Given the description of an element on the screen output the (x, y) to click on. 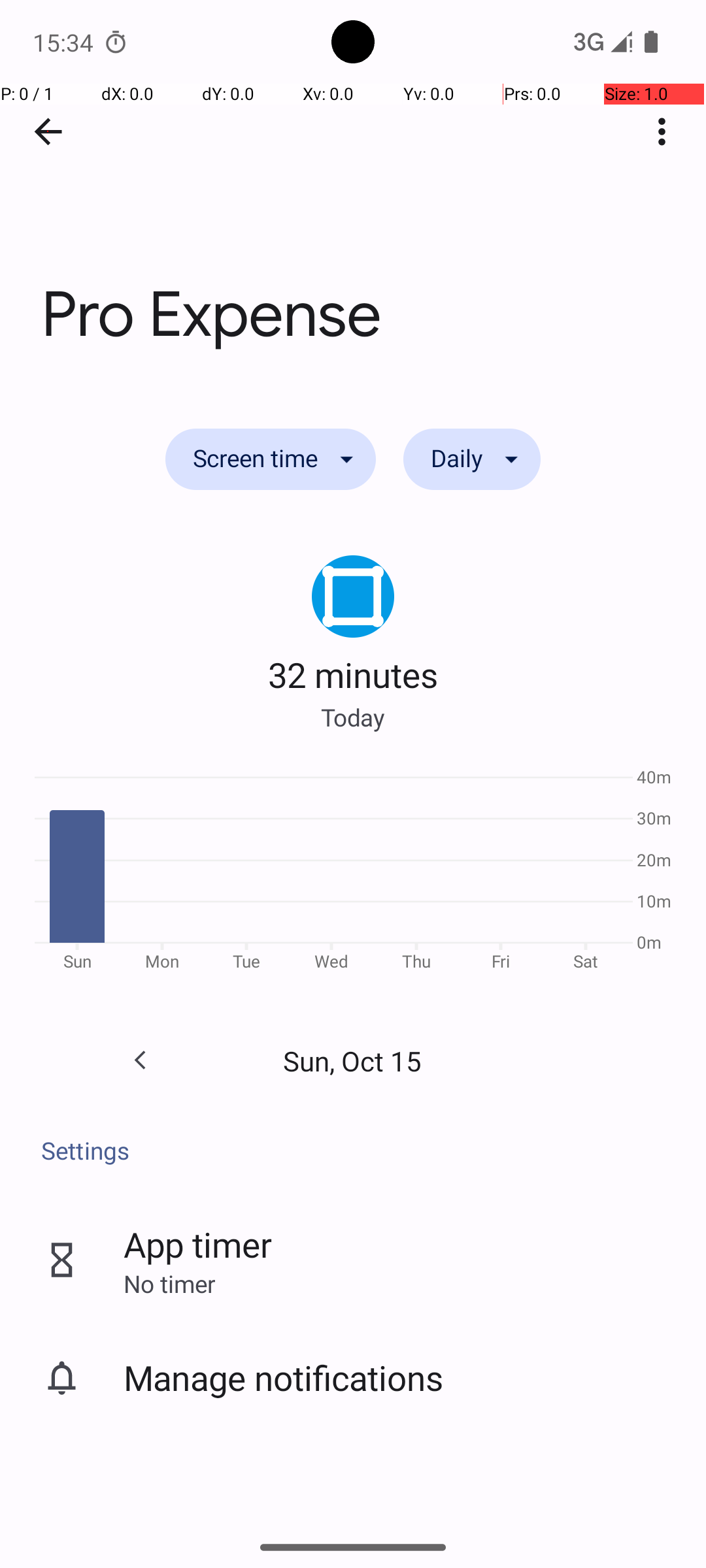
32 minutes Element type: android.widget.TextView (353, 674)
Bar Chart. Showing App usage data with 7 data points. Element type: android.view.ViewGroup (353, 873)
